Given the description of an element on the screen output the (x, y) to click on. 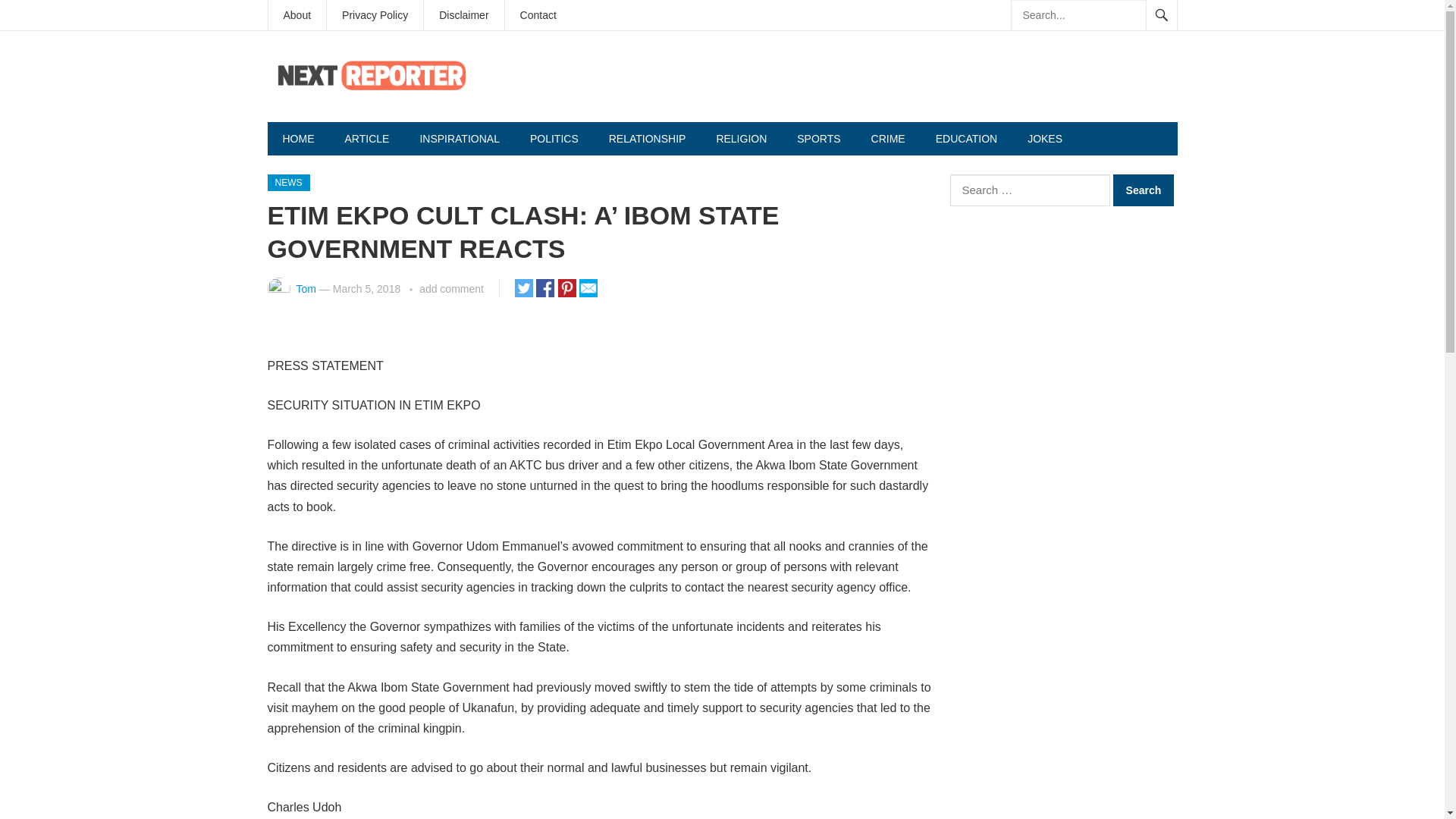
View all posts in News (287, 182)
SPORTS (818, 138)
Privacy Policy (374, 15)
Contact (538, 15)
HOME (297, 138)
RELIGION (740, 138)
NEWS (287, 182)
About (296, 15)
ARTICLE (366, 138)
add comment (451, 288)
Disclaimer (463, 15)
POLITICS (554, 138)
INSPIRATIONAL (459, 138)
Search (1143, 190)
EDUCATION (965, 138)
